Given the description of an element on the screen output the (x, y) to click on. 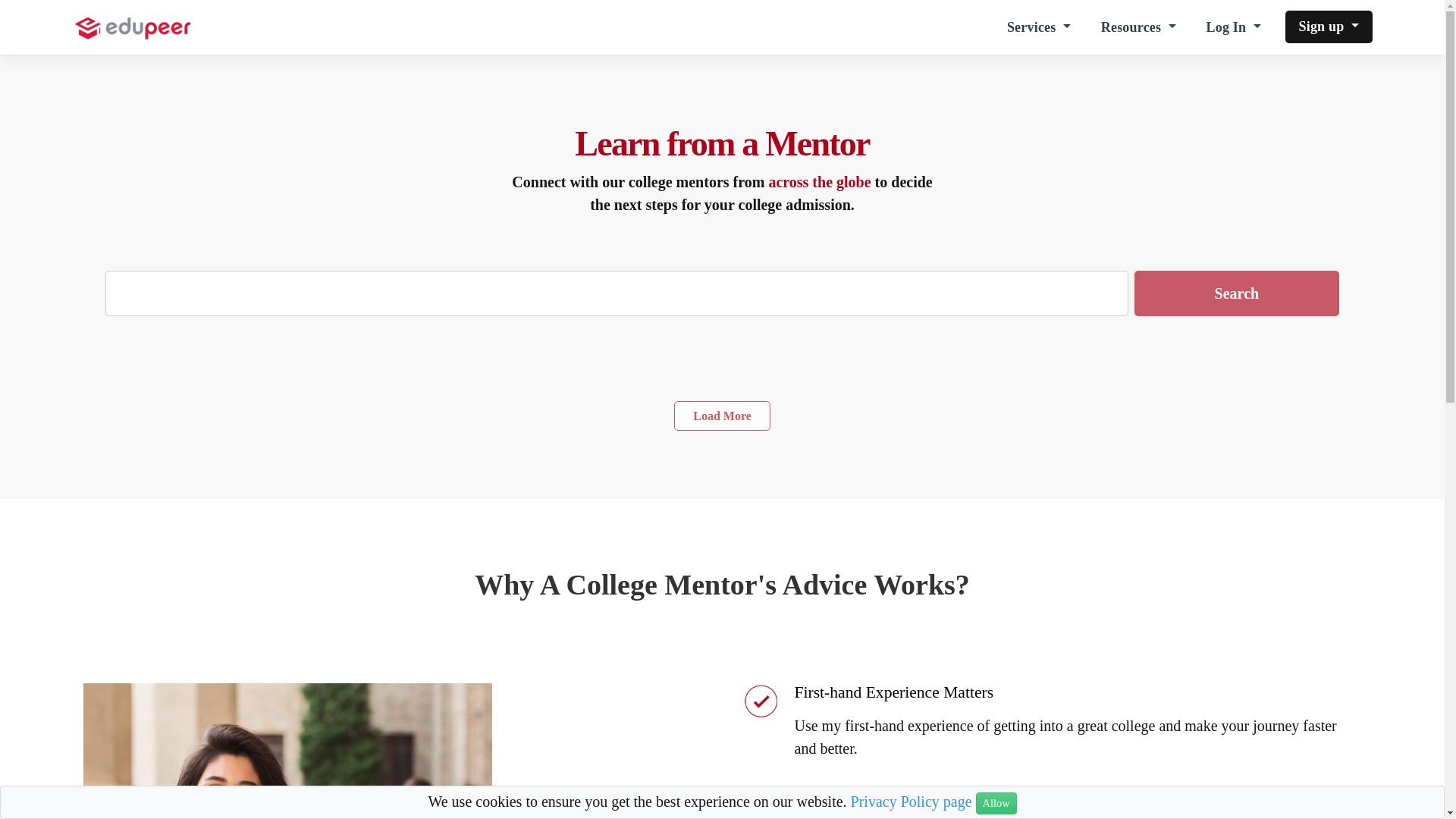
Allow (995, 803)
Search (1236, 293)
Sign up (1327, 26)
Load More (722, 416)
Log In (1232, 27)
Services (1039, 27)
Privacy Policy page (911, 801)
Resources (1138, 27)
